Given the description of an element on the screen output the (x, y) to click on. 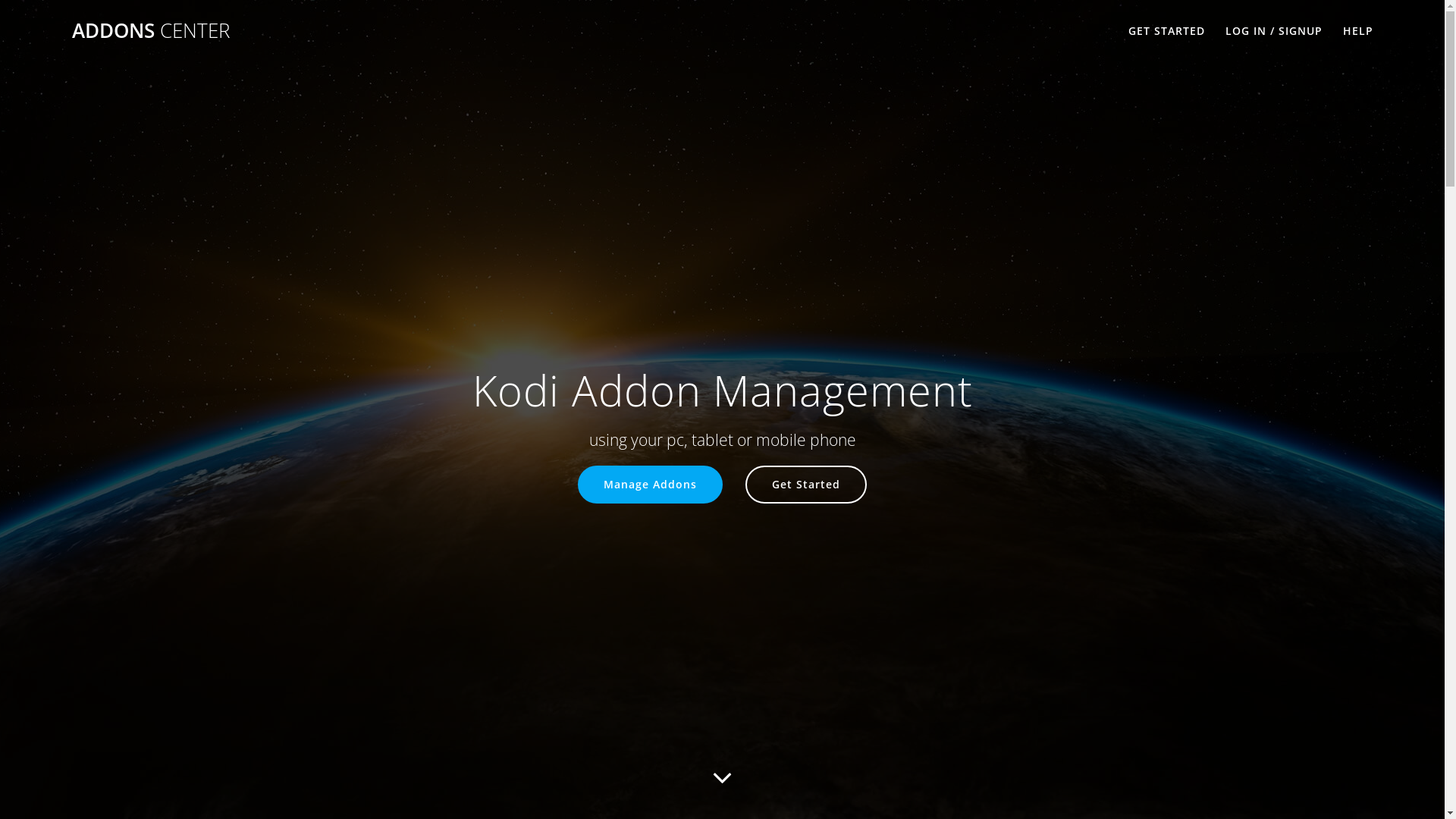
HELP Element type: text (1358, 30)
Manage Addons Element type: text (649, 484)
Skip to content Element type: text (0, 0)
LOG IN / SIGNUP Element type: text (1273, 30)
Get Started Element type: text (805, 484)
ADDONS CENTER Element type: text (150, 30)
GET STARTED Element type: text (1166, 30)
